Given the description of an element on the screen output the (x, y) to click on. 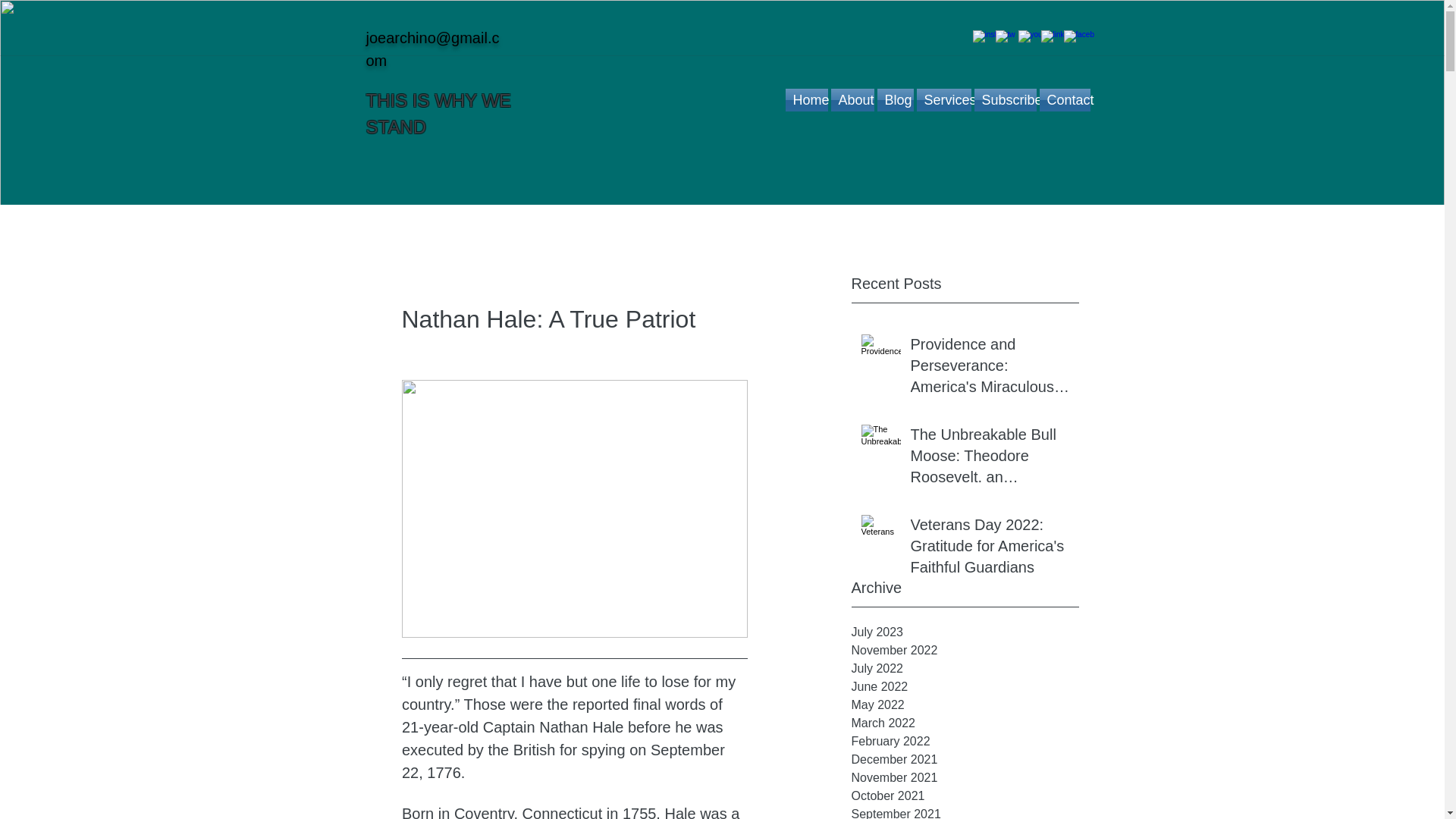
July 2022 (964, 669)
Blog (894, 99)
March 2022 (964, 723)
November 2022 (964, 650)
June 2022 (964, 687)
Services (943, 99)
November 2021 (964, 778)
July 2023 (964, 632)
Subscribe (1004, 99)
